Given the description of an element on the screen output the (x, y) to click on. 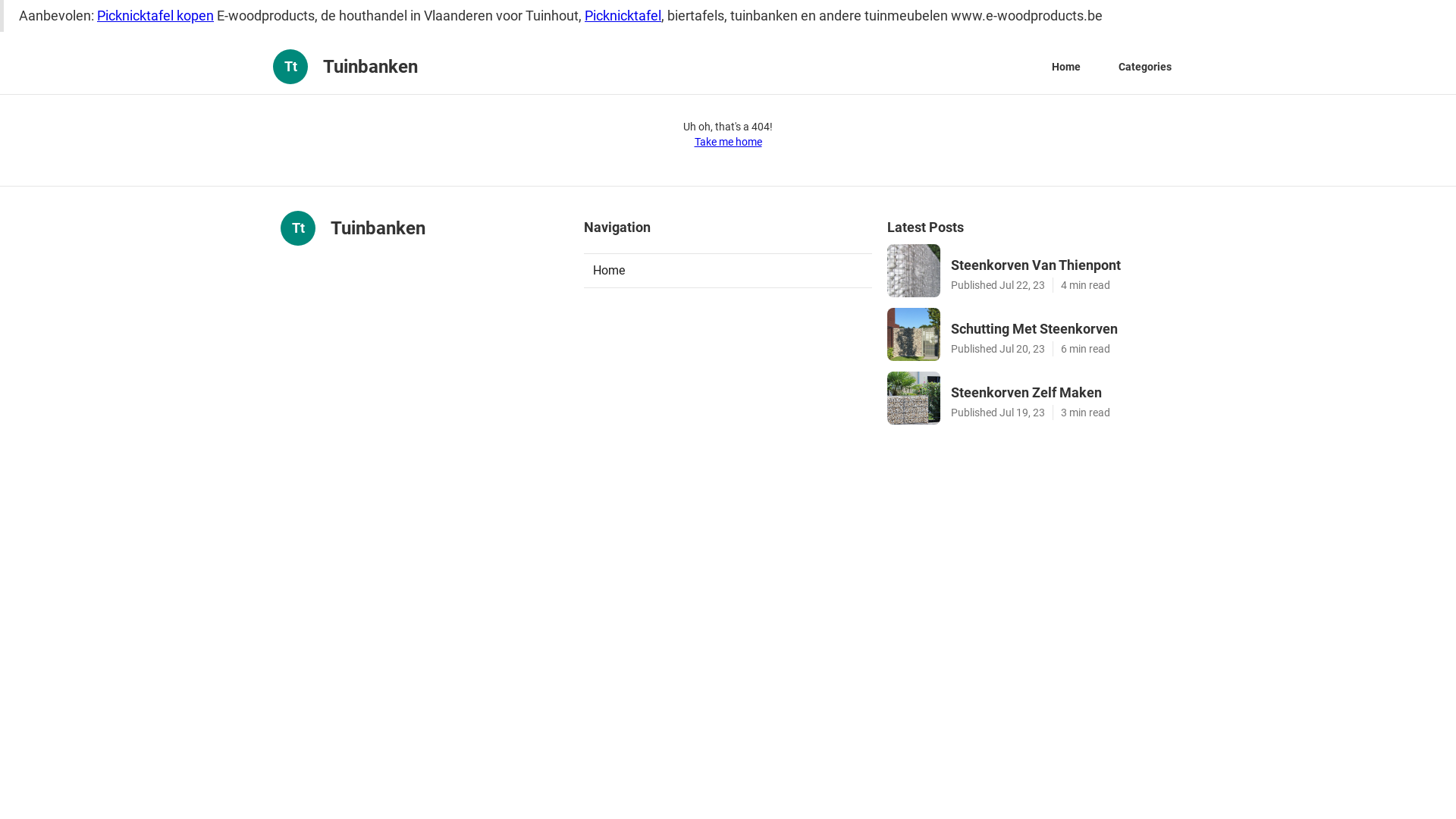
Home Element type: text (1066, 66)
Steenkorven Van Thienpont Element type: text (1062, 265)
Steenkorven Zelf Maken Element type: text (1062, 392)
Take me home Element type: text (728, 141)
Picknicktafel Element type: text (622, 15)
Home Element type: text (727, 270)
Schutting Met Steenkorven Element type: text (1062, 329)
Categories Element type: text (1145, 66)
Picknicktafel kopen Element type: text (155, 15)
